Given the description of an element on the screen output the (x, y) to click on. 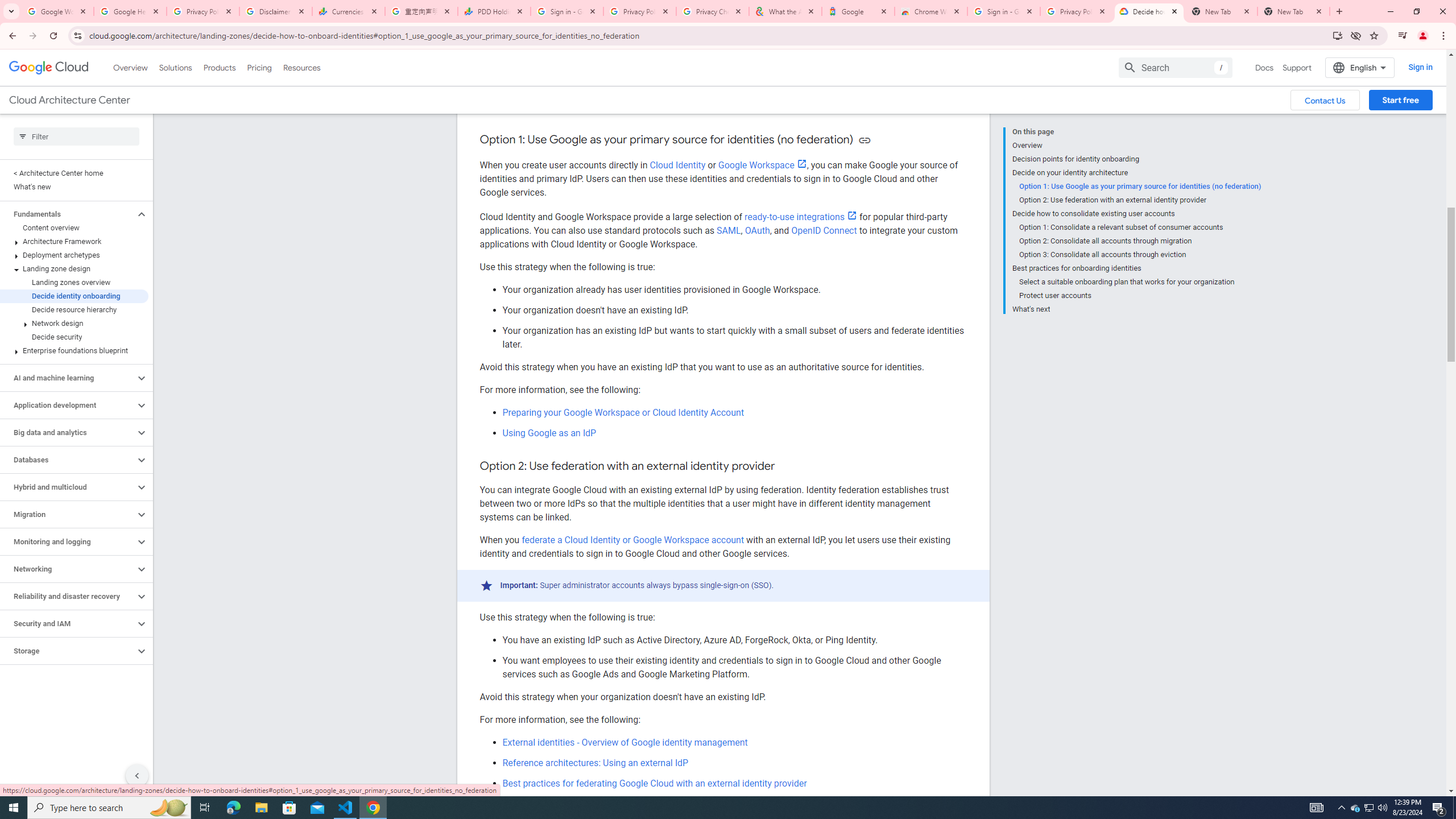
Overview (1135, 145)
Decide identity onboarding (74, 296)
Chrome Web Store - Color themes by Chrome (930, 11)
Databases (67, 459)
Google (857, 11)
PDD Holdings Inc - ADR (PDD) Price & News - Google Finance (493, 11)
< Architecture Center home (74, 173)
Search (1174, 67)
Install Google Cloud (1336, 35)
ready-to-use integrations (800, 216)
Security and IAM (67, 623)
Option 1: Consolidate a relevant subset of consumer accounts (1139, 227)
Control your music, videos, and more (1402, 35)
Resources (301, 67)
